Given the description of an element on the screen output the (x, y) to click on. 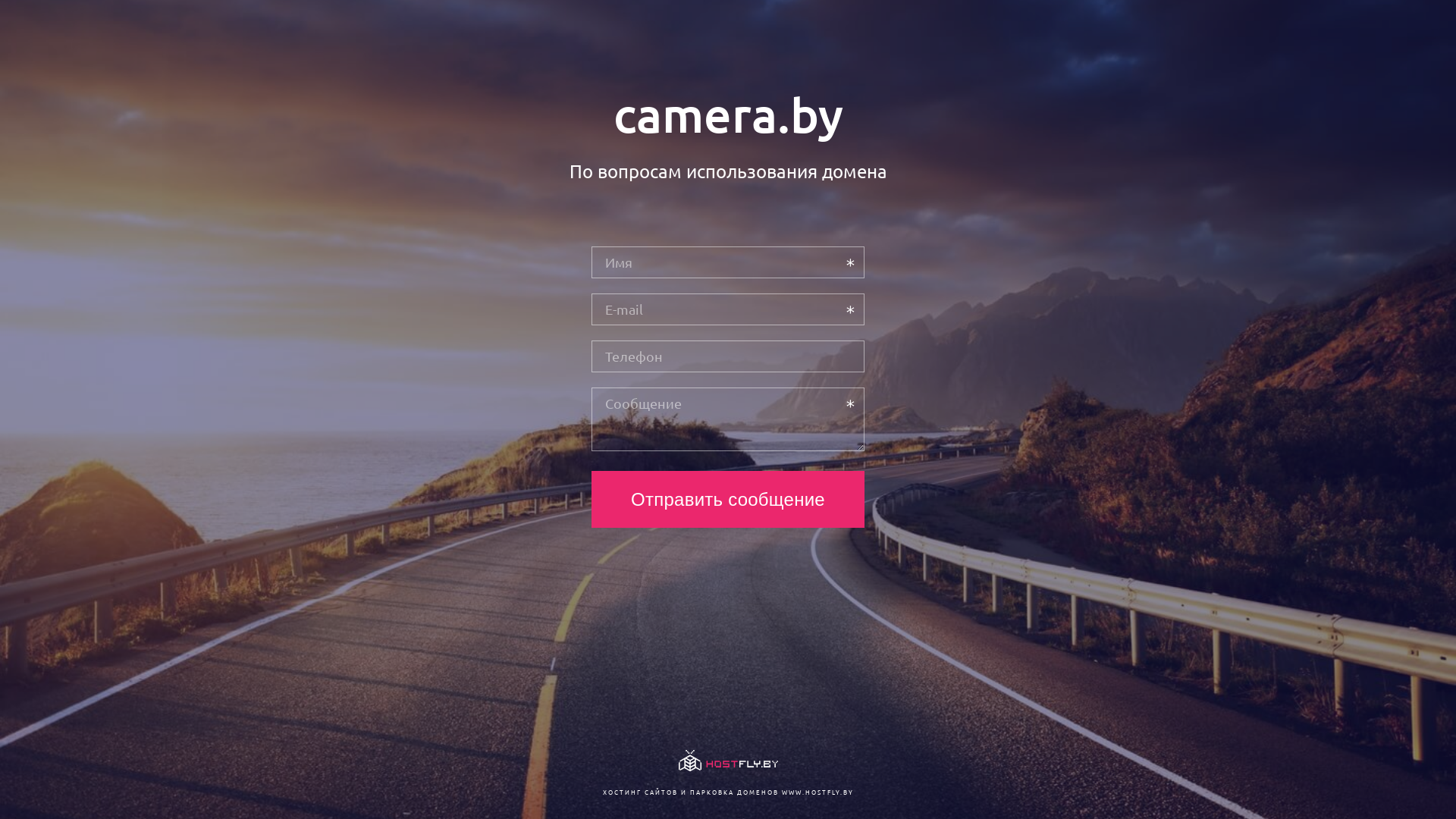
WWW.HOSTFLY.BY Element type: text (817, 791)
